Given the description of an element on the screen output the (x, y) to click on. 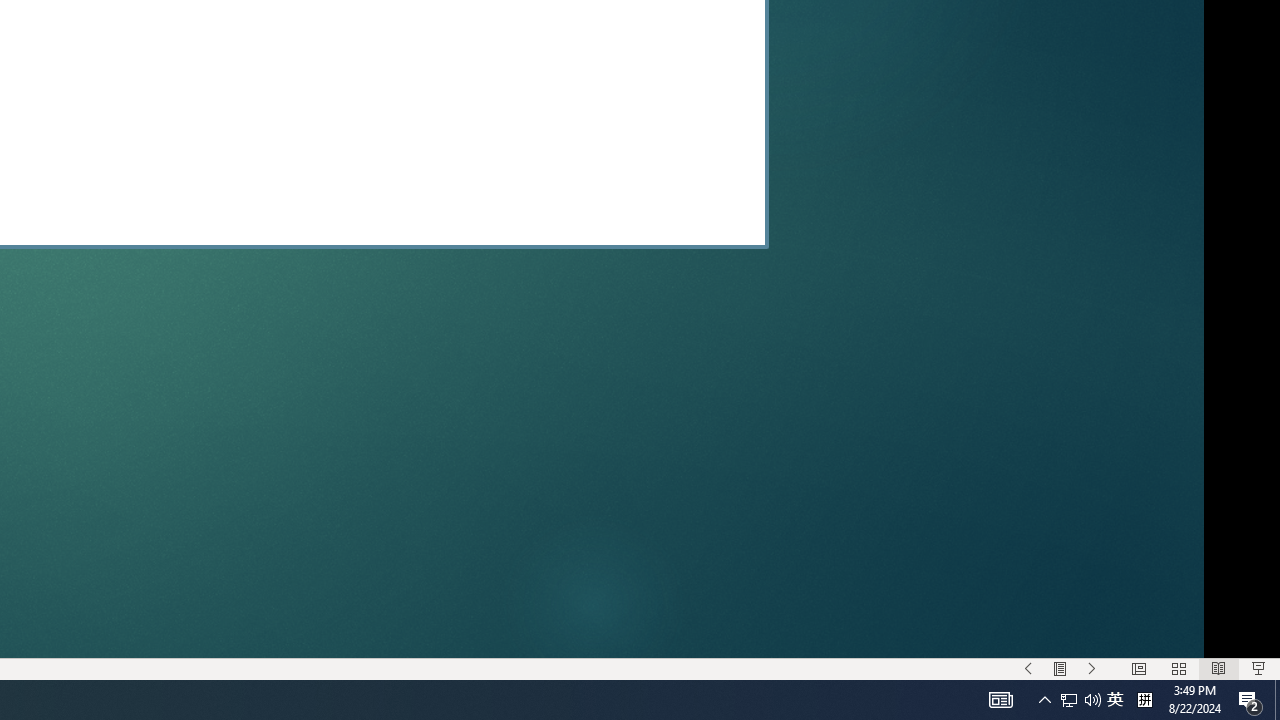
Slide Show Previous On (1028, 668)
Menu On (1060, 668)
Slide Show Next On (1092, 668)
